Given the description of an element on the screen output the (x, y) to click on. 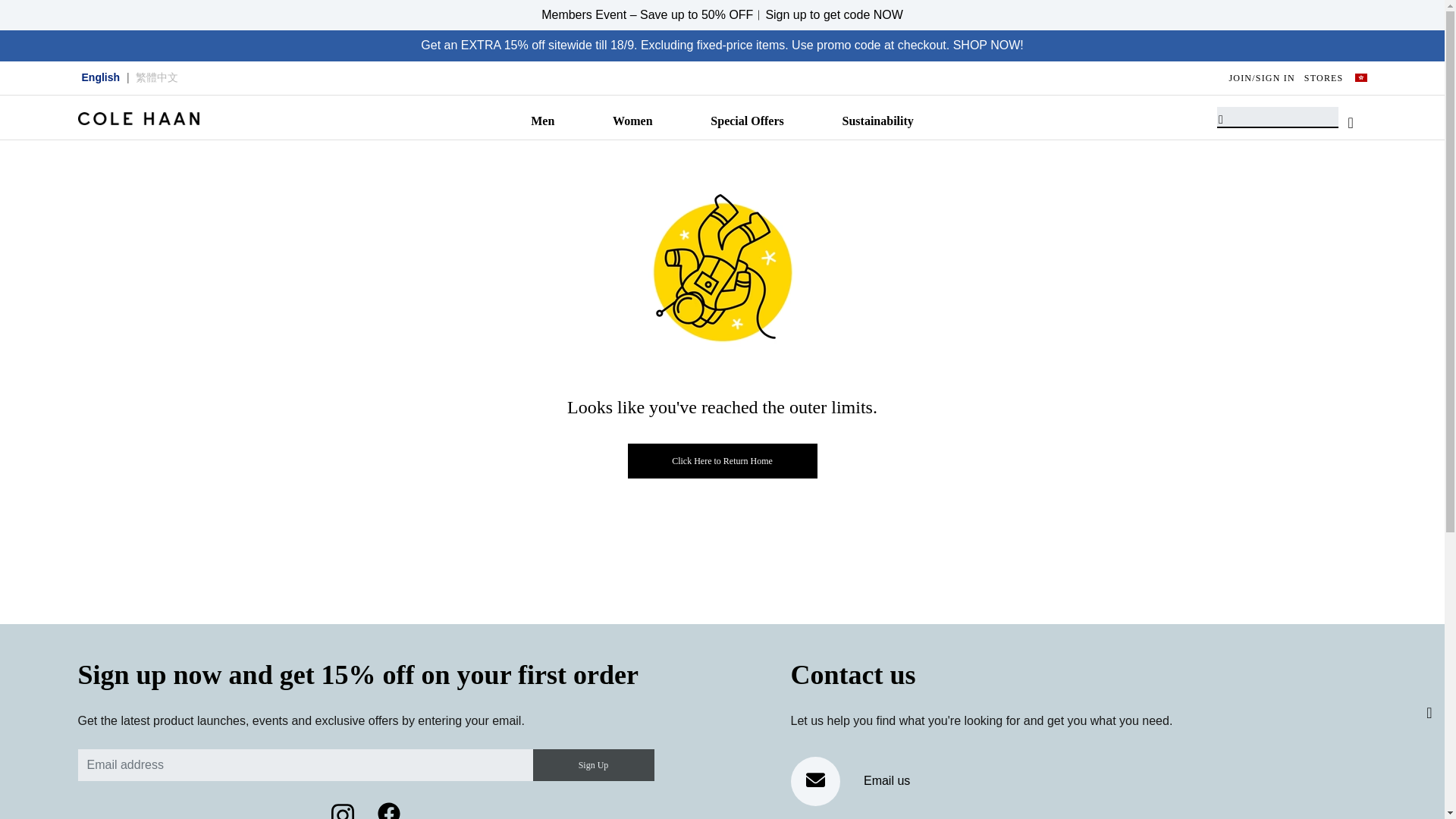
Cole Haan Facebook (388, 810)
STORES (1323, 77)
Cole Haan (137, 118)
Men (542, 124)
Email Sign Up (592, 765)
English (100, 77)
English (100, 77)
Cole Haan Instagram (342, 810)
